Given the description of an element on the screen output the (x, y) to click on. 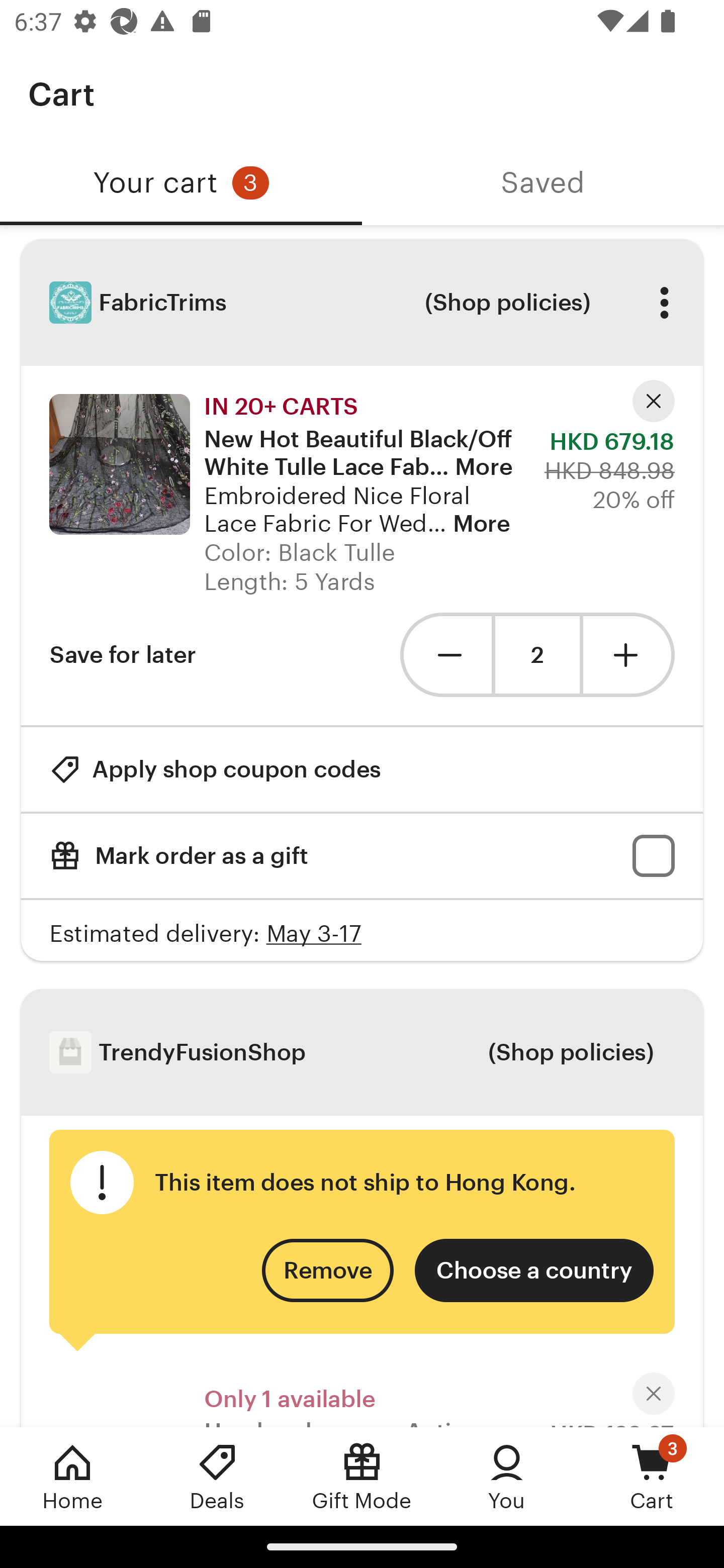
Saved, tab 2 of 2 Saved (543, 183)
FabricTrims (Shop policies) More options (361, 302)
(Shop policies) (507, 302)
More options (663, 302)
Save for later (122, 655)
Remove one unit from cart (445, 655)
Add one unit to cart (628, 655)
2 (537, 655)
Apply shop coupon codes (215, 769)
Mark order as a gift (361, 855)
TrendyFusionShop (Shop policies) (361, 1052)
(Shop policies) (570, 1051)
Remove (327, 1269)
Choose a country (533, 1269)
Home (72, 1475)
Deals (216, 1475)
Gift Mode (361, 1475)
You (506, 1475)
